Given the description of an element on the screen output the (x, y) to click on. 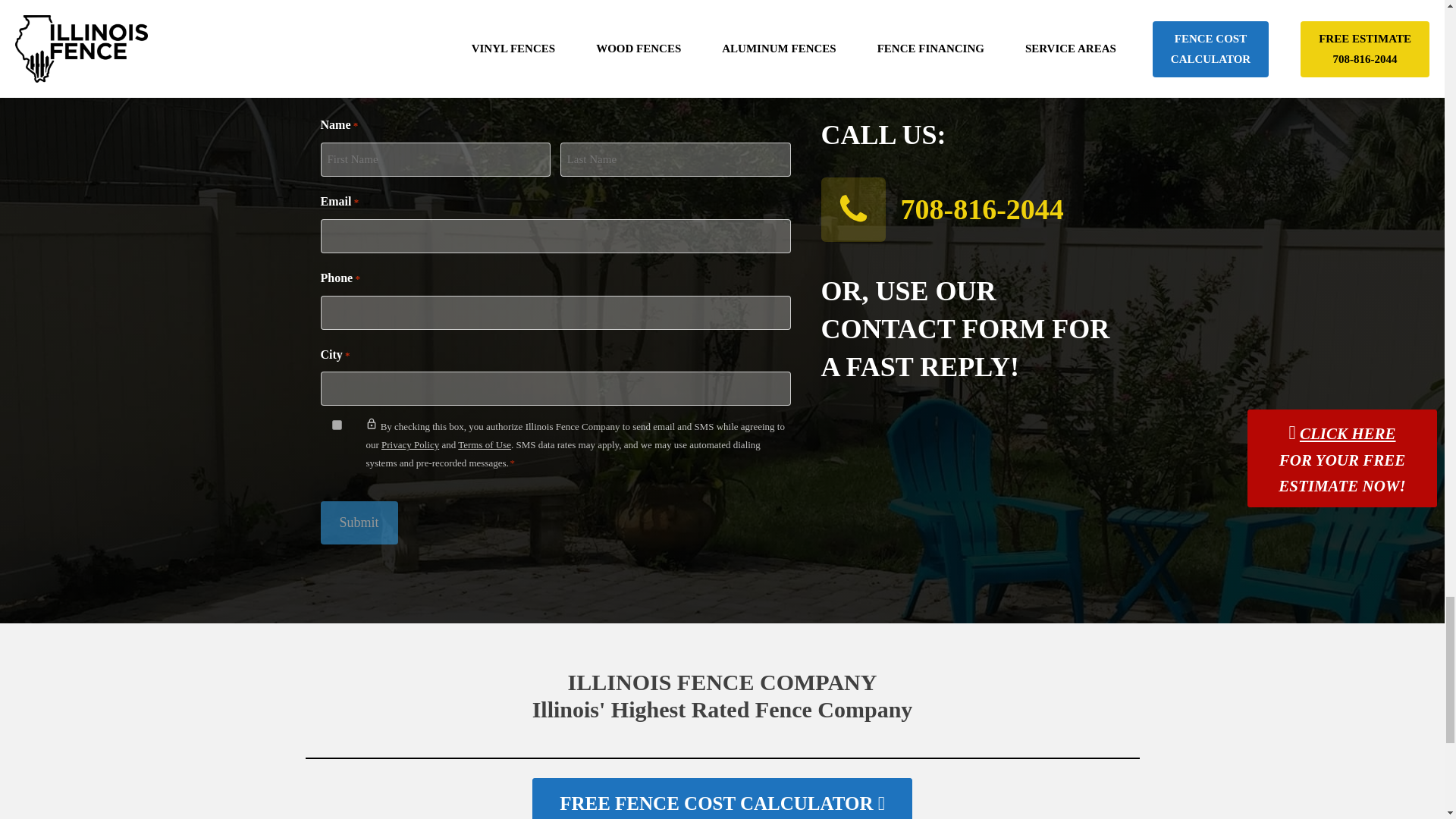
Submit (358, 522)
Terms of Use (484, 444)
1 (336, 424)
Privacy Policy (410, 444)
Submit (358, 522)
708-816-2044 (982, 209)
